Given the description of an element on the screen output the (x, y) to click on. 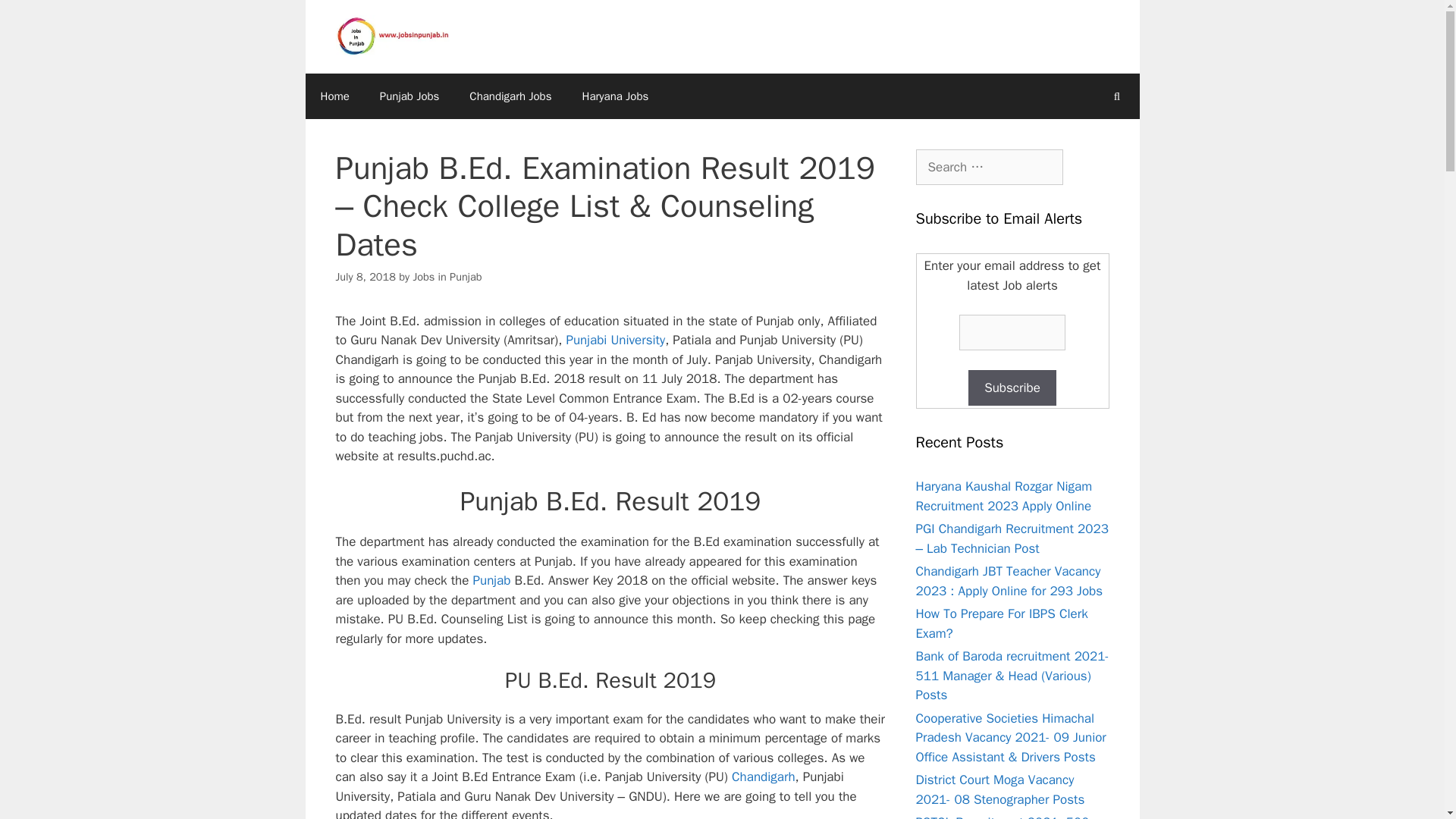
Haryana Kaushal Rozgar Nigam Recruitment 2023 Apply Online (1004, 496)
Home (334, 95)
Punjabi University (615, 340)
View all posts by Jobs in Punjab (446, 276)
Search for: (988, 167)
Subscribe (1012, 388)
Punjab (492, 580)
Search (35, 18)
Jobs in Punjab (446, 276)
Chandigarh (763, 776)
How To Prepare For IBPS Clerk Exam? (1001, 623)
Chandigarh Jobs (510, 95)
Subscribe (1012, 388)
